Given the description of an element on the screen output the (x, y) to click on. 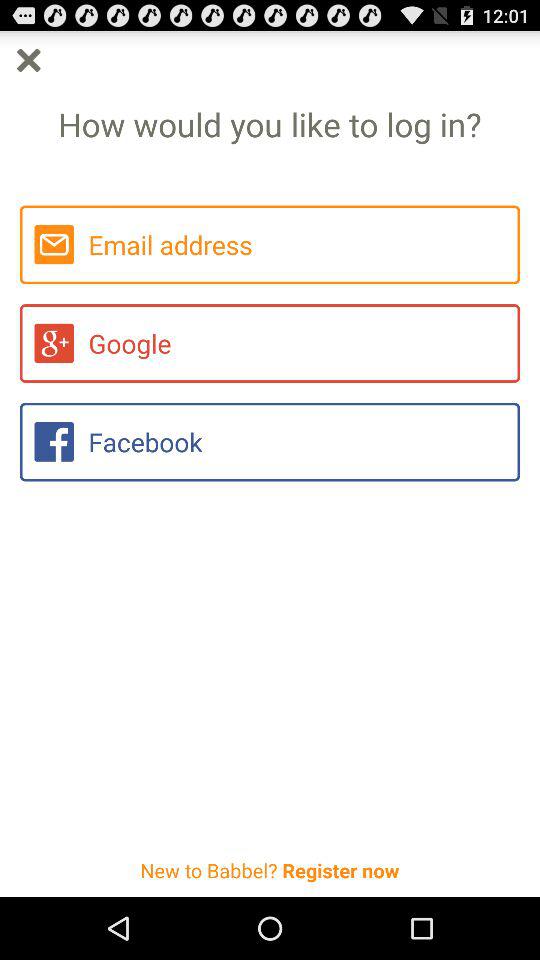
close screen (28, 60)
